Given the description of an element on the screen output the (x, y) to click on. 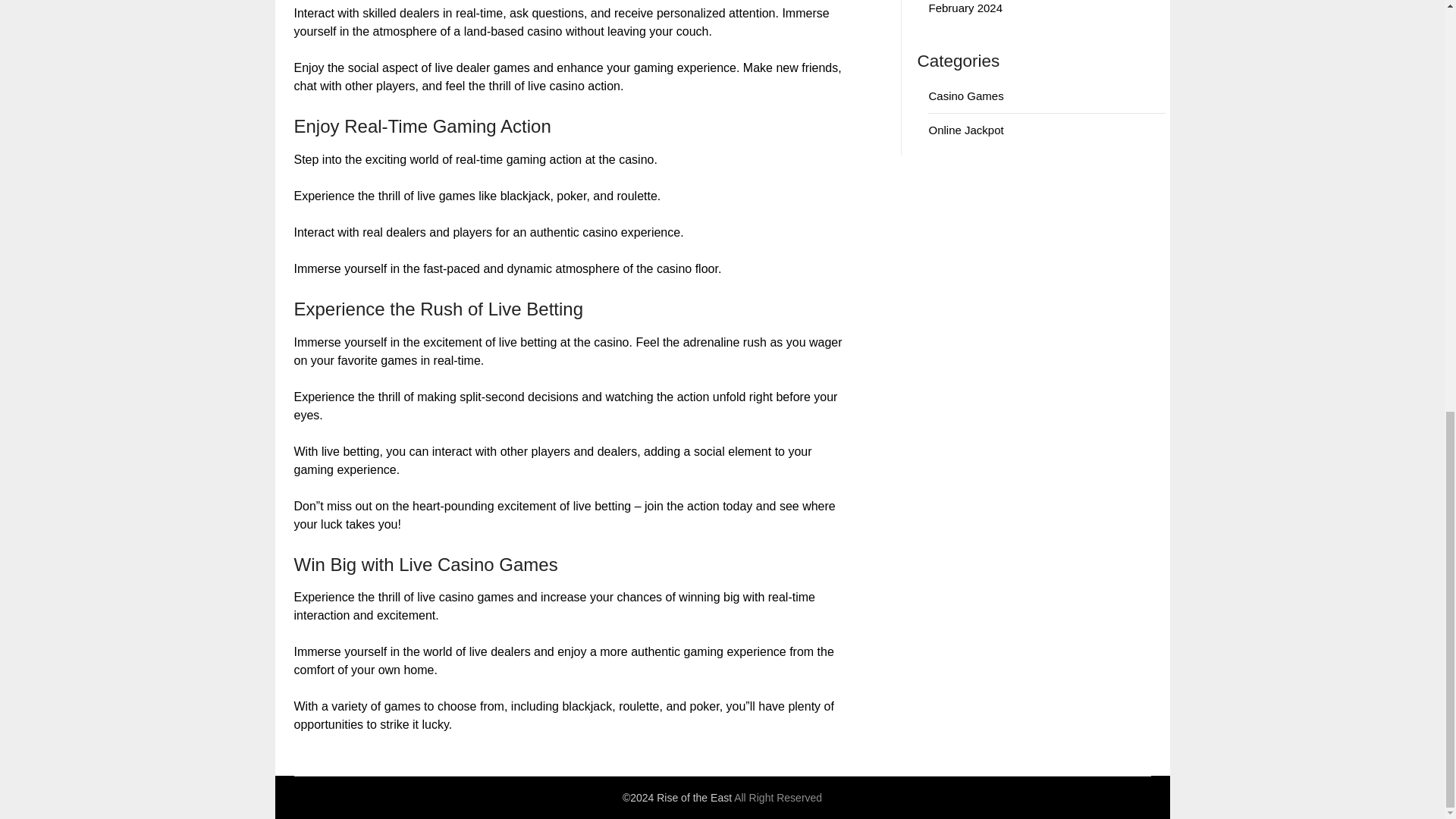
Casino Games (965, 95)
February 2024 (965, 7)
Online Jackpot (965, 129)
All Right Reserved (777, 797)
